Given the description of an element on the screen output the (x, y) to click on. 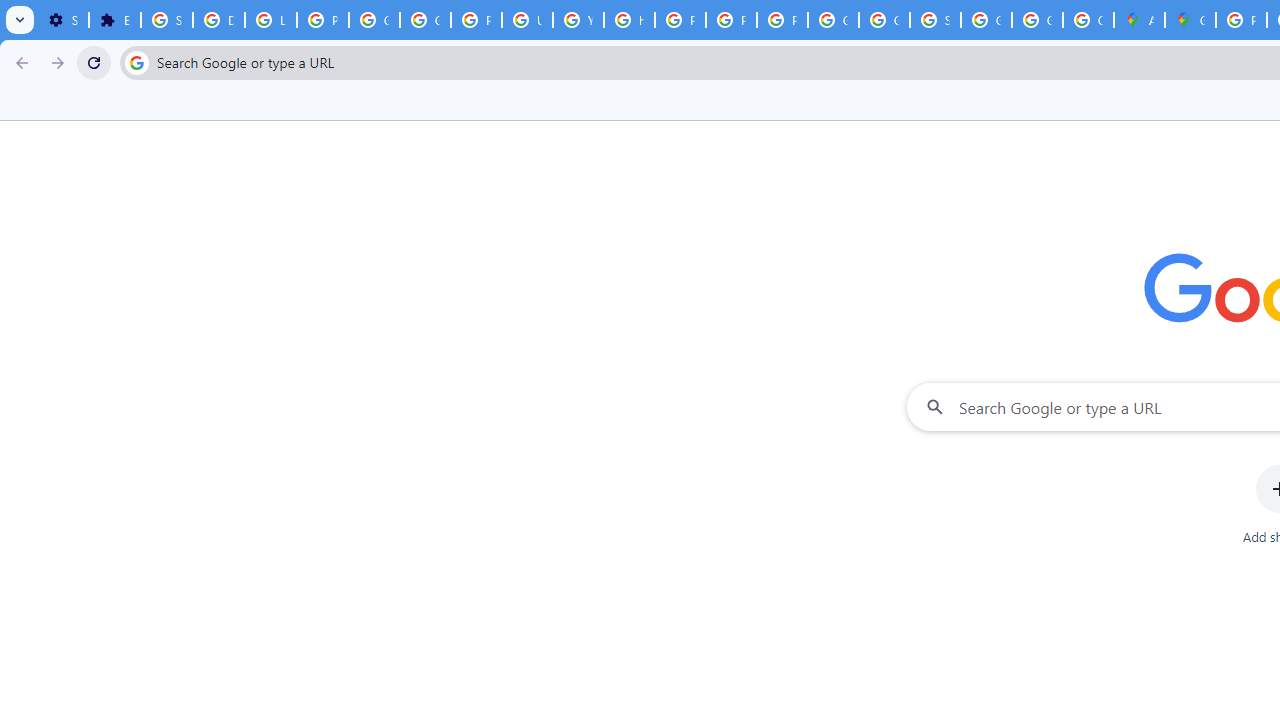
Google Maps (1189, 20)
YouTube (578, 20)
Sign in - Google Accounts (935, 20)
Settings - On startup (63, 20)
https://scholar.google.com/ (629, 20)
Extensions (114, 20)
Google Account Help (374, 20)
Privacy Help Center - Policies Help (680, 20)
